Given the description of an element on the screen output the (x, y) to click on. 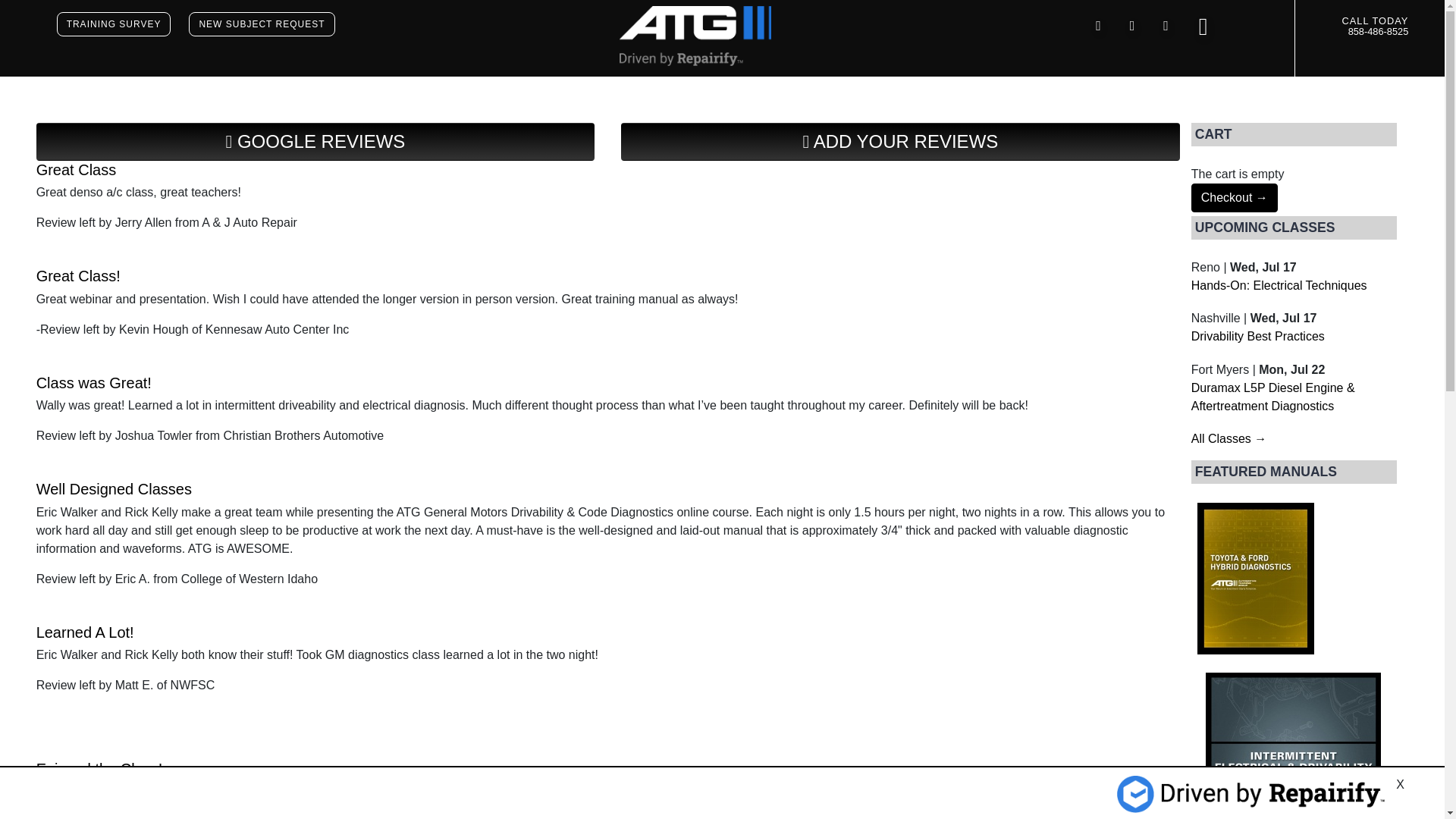
GOOGLE REVIEWS (315, 141)
Great Class (76, 169)
TRAINING SURVEY (113, 24)
Great Class! (78, 275)
Class was Great! (93, 382)
ADD YOUR REVIEWS (900, 141)
Learned A Lot! (84, 632)
Well Designed Classes (114, 488)
858-486-8525 (1378, 30)
NEW SUBJECT REQUEST (261, 24)
Enjoyed the Class! (99, 768)
